Given the description of an element on the screen output the (x, y) to click on. 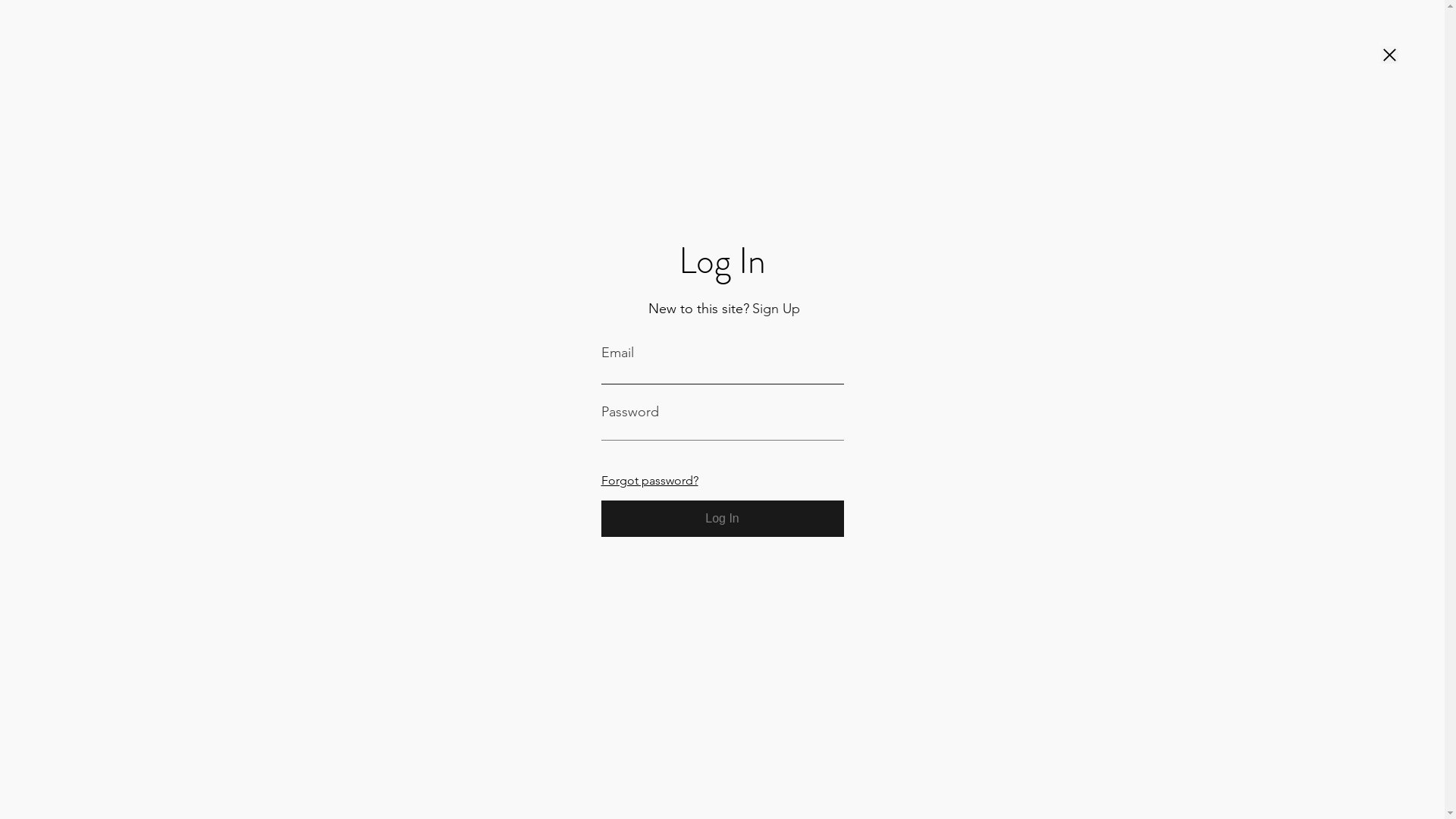
Sign Up Element type: text (776, 309)
Log In Element type: text (721, 518)
Forgot password? Element type: text (648, 479)
